Given the description of an element on the screen output the (x, y) to click on. 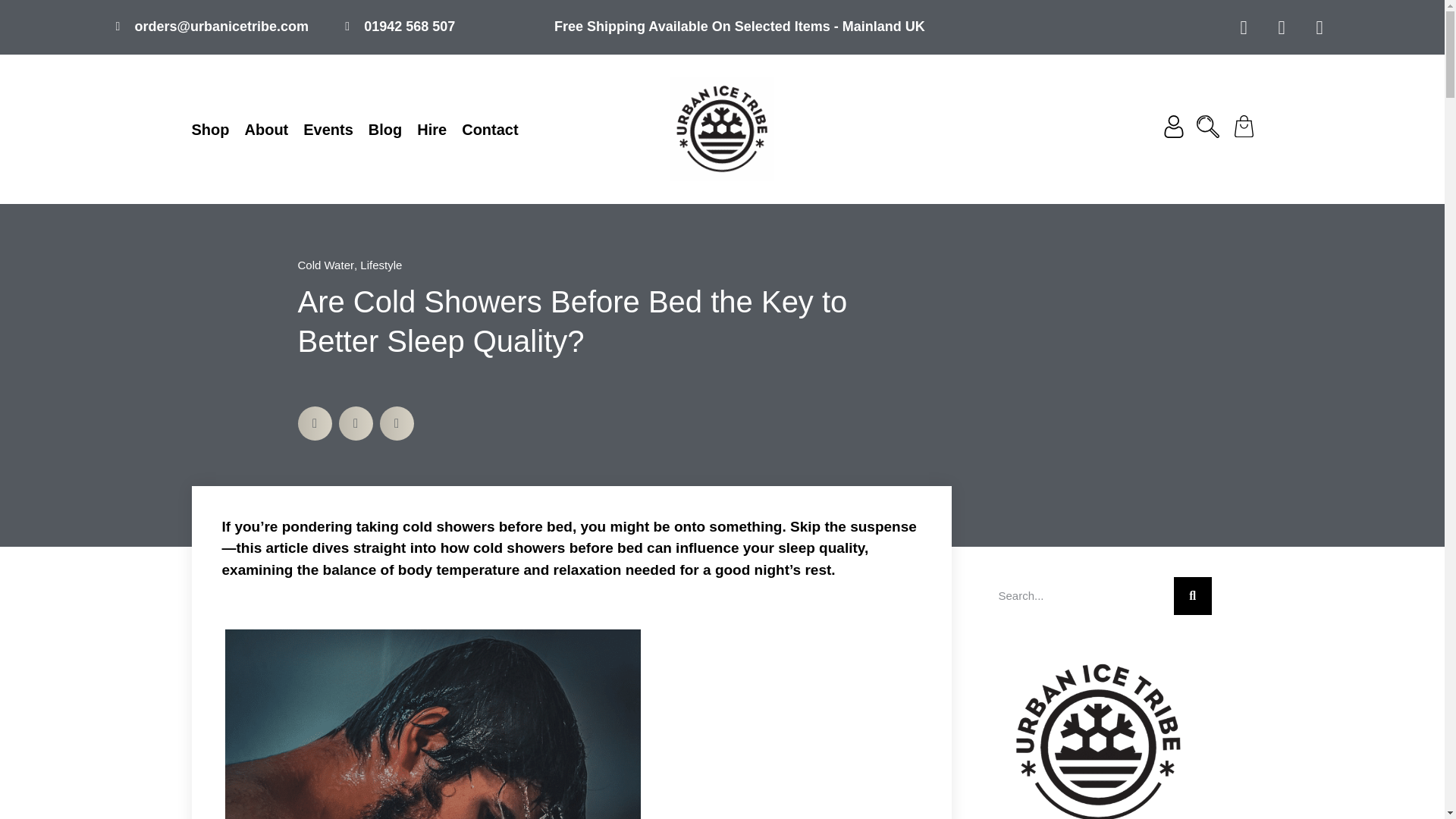
Contact (489, 128)
Cold Water (325, 264)
Lifestyle (380, 264)
Blog (384, 128)
01942 568 507 (399, 26)
Hire (431, 128)
Shop (209, 128)
Events (327, 128)
About (266, 128)
